Given the description of an element on the screen output the (x, y) to click on. 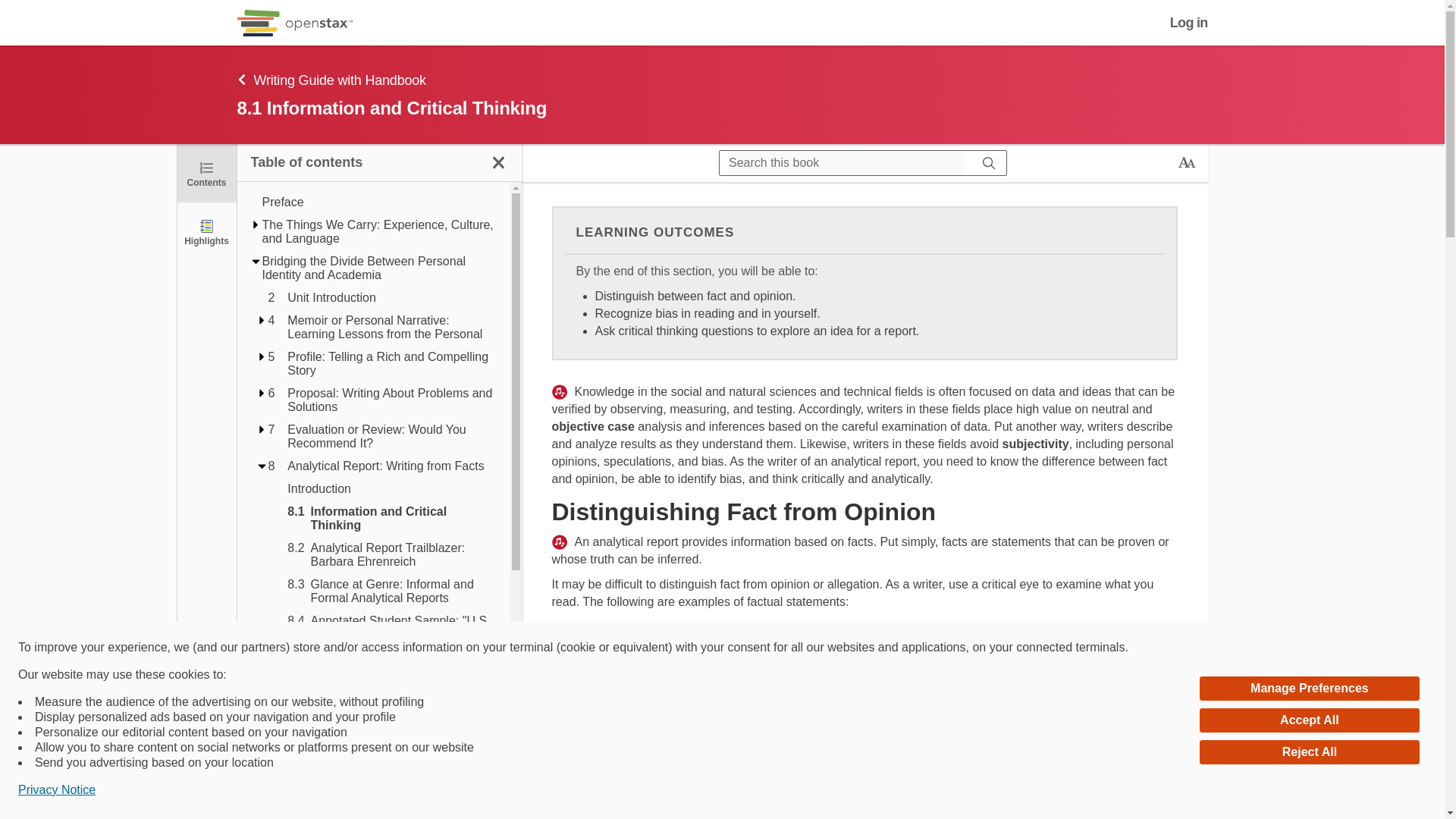
Reject All (1309, 751)
Contents (206, 173)
Privacy Notice (56, 789)
Culture lens icon (559, 391)
Writing Guide with Handbook (635, 78)
Manage Preferences (1309, 688)
Writing Guide with Handbook (338, 119)
Preface (379, 202)
Highlights (206, 231)
